Given the description of an element on the screen output the (x, y) to click on. 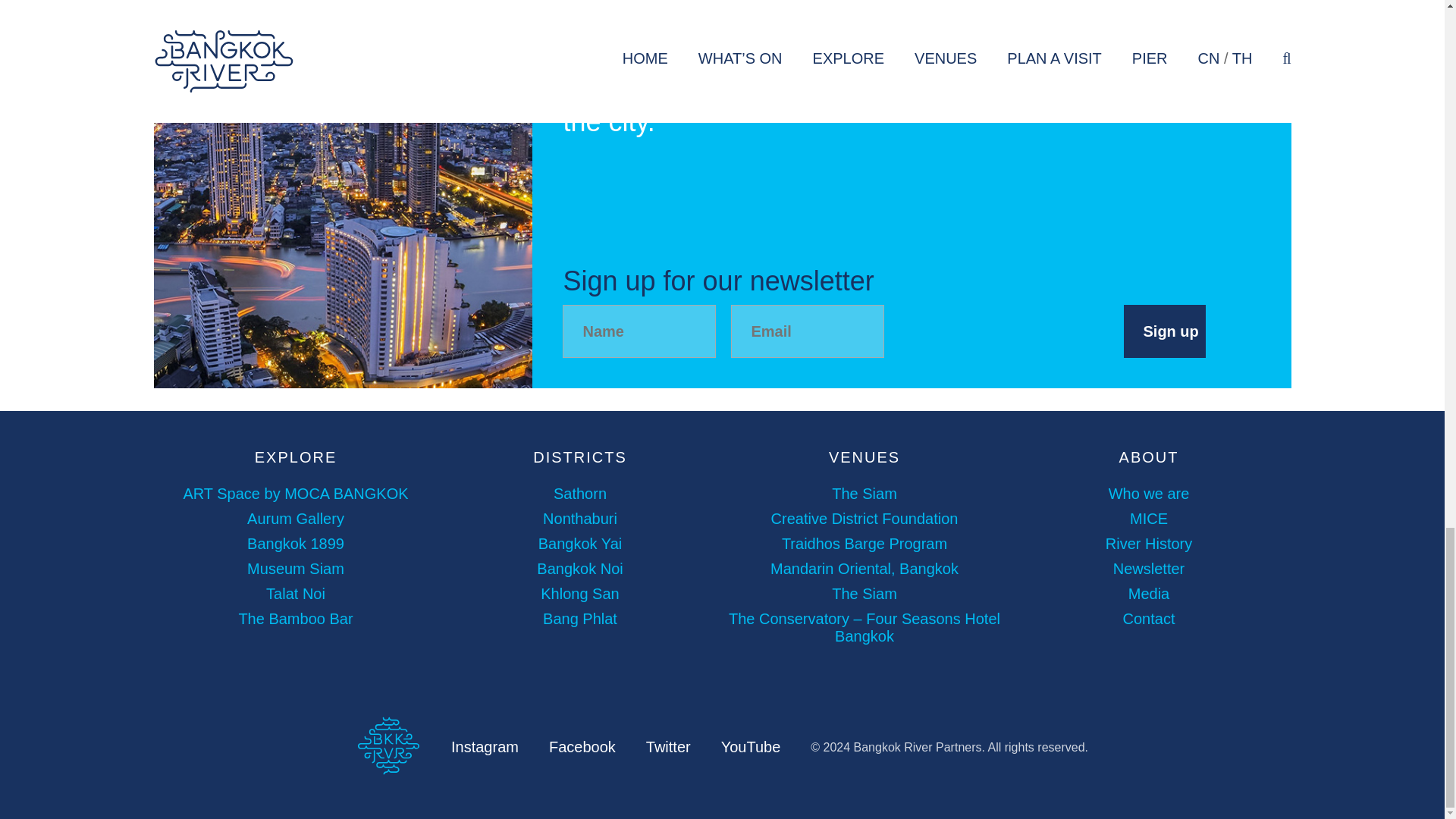
Sign up (1164, 330)
